Given the description of an element on the screen output the (x, y) to click on. 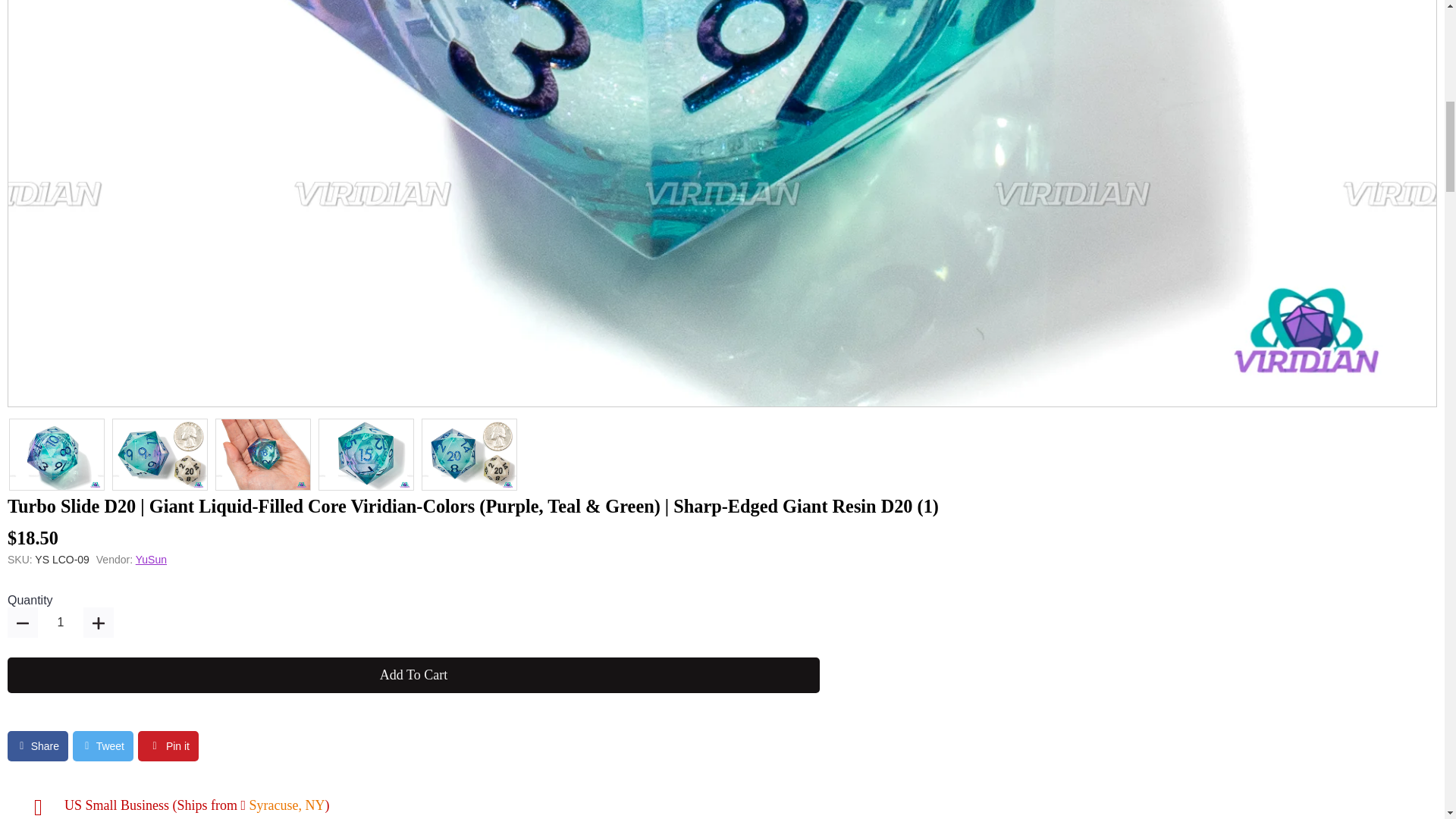
facebook (37, 746)
pinterest (168, 746)
1 (59, 622)
twitter (102, 746)
